Given the description of an element on the screen output the (x, y) to click on. 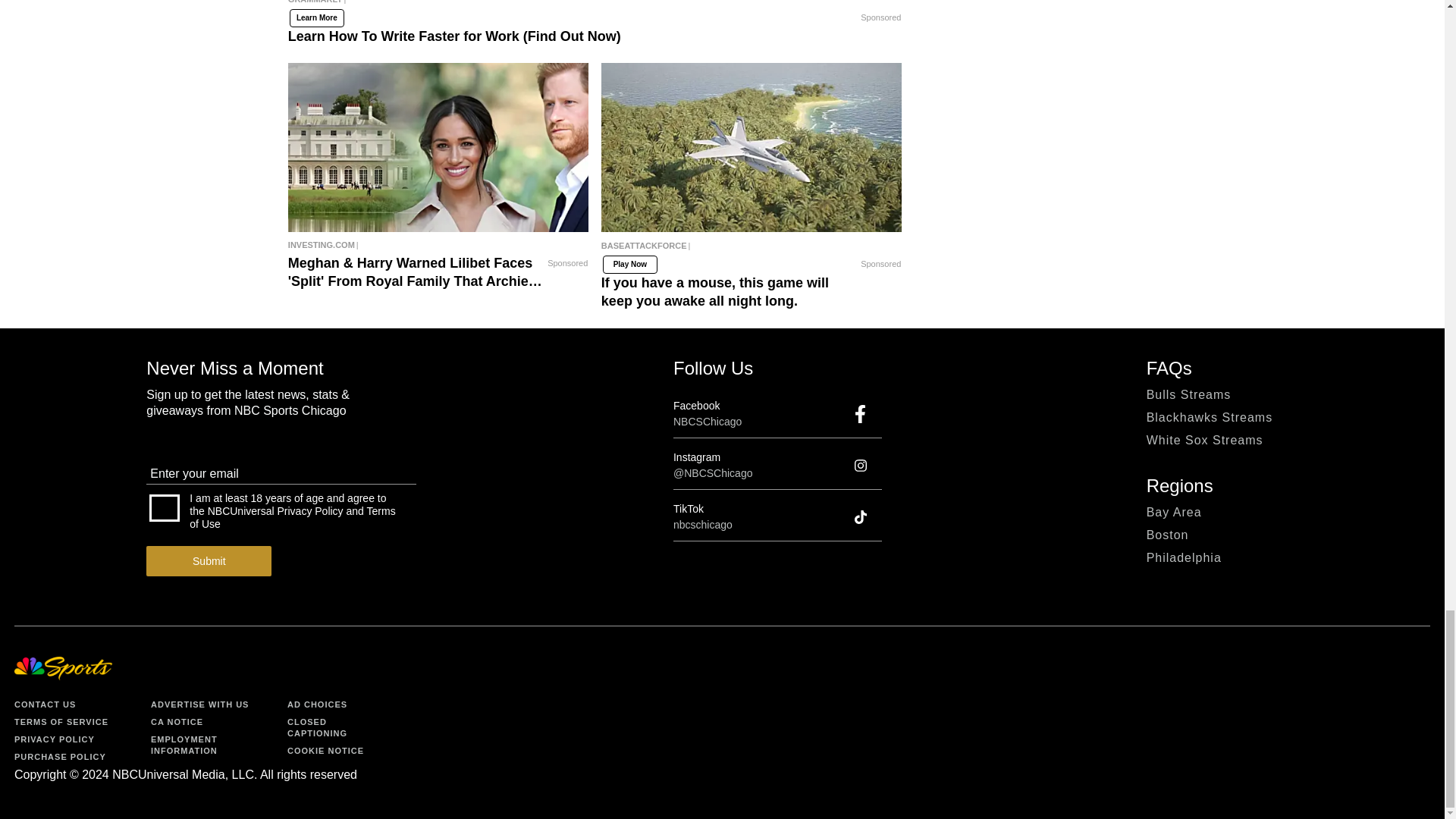
on (164, 507)
